Given the description of an element on the screen output the (x, y) to click on. 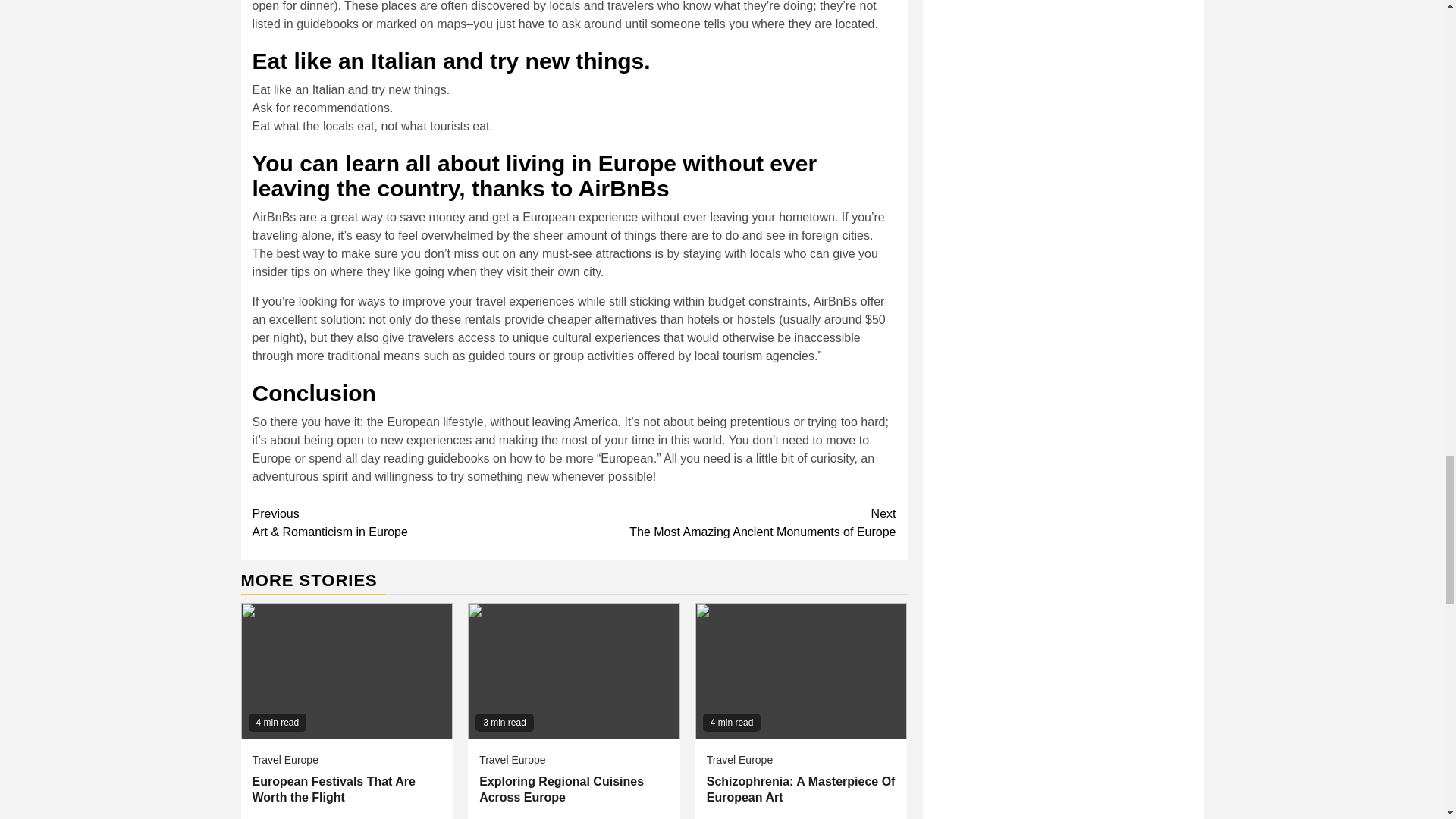
Ozella Mallow (582, 818)
Exploring Regional Cuisines Across Europe (561, 788)
Travel Europe (739, 761)
Ozella Mallow (809, 818)
Travel Europe (511, 761)
Travel Europe (284, 761)
Schizophrenia: A Masterpiece Of European Art (800, 788)
Ozella Mallow (355, 818)
European Festivals That Are Worth the Flight (332, 788)
